Given the description of an element on the screen output the (x, y) to click on. 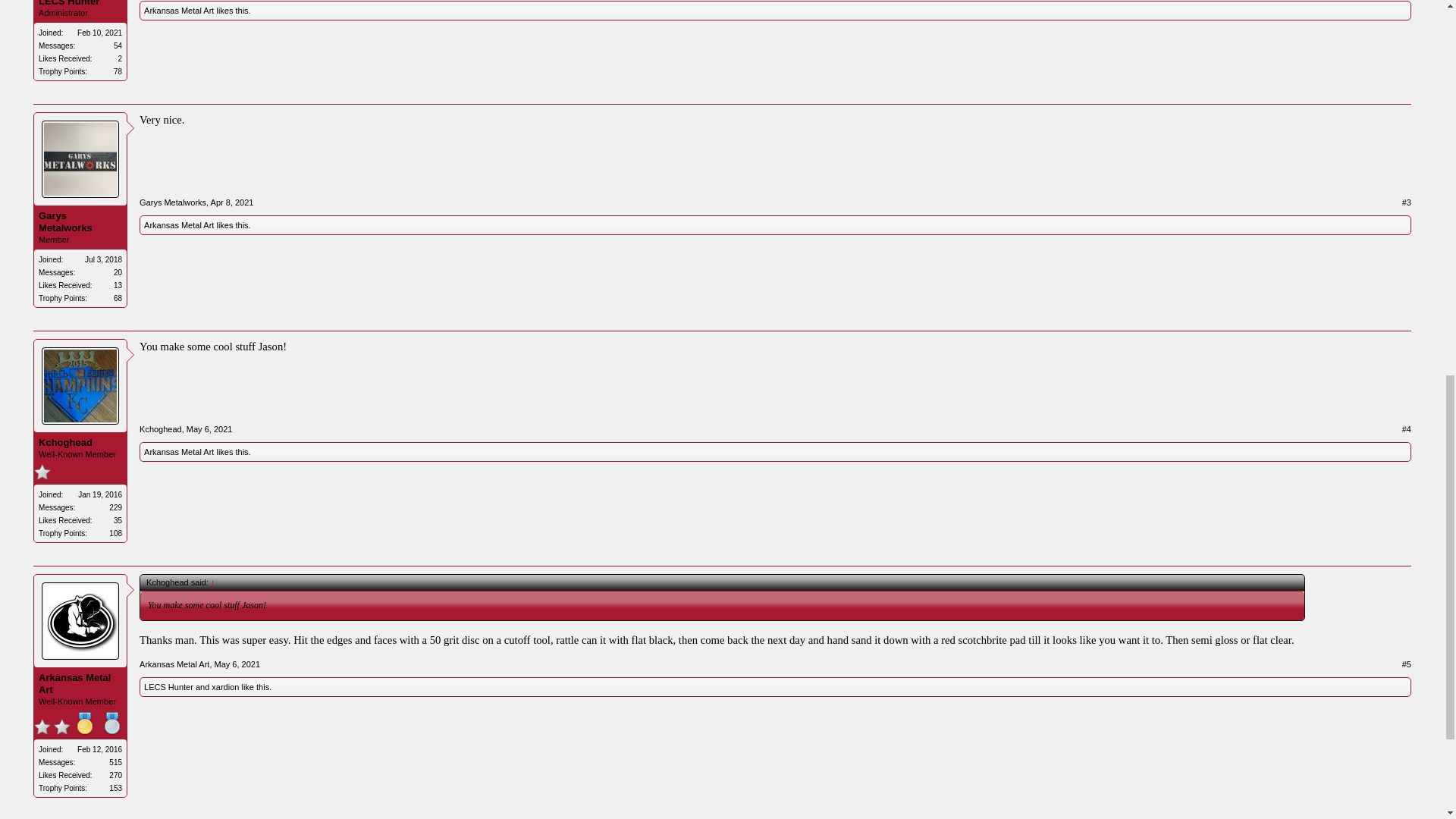
54 (117, 45)
68 (117, 298)
Permalink (232, 202)
20 (117, 272)
LECS Hunter (80, 3)
Apr 8, 2021 (232, 202)
Garys Metalworks (172, 202)
Garys Metalworks (80, 221)
78 (117, 71)
Arkansas Metal Art (179, 10)
